Given the description of an element on the screen output the (x, y) to click on. 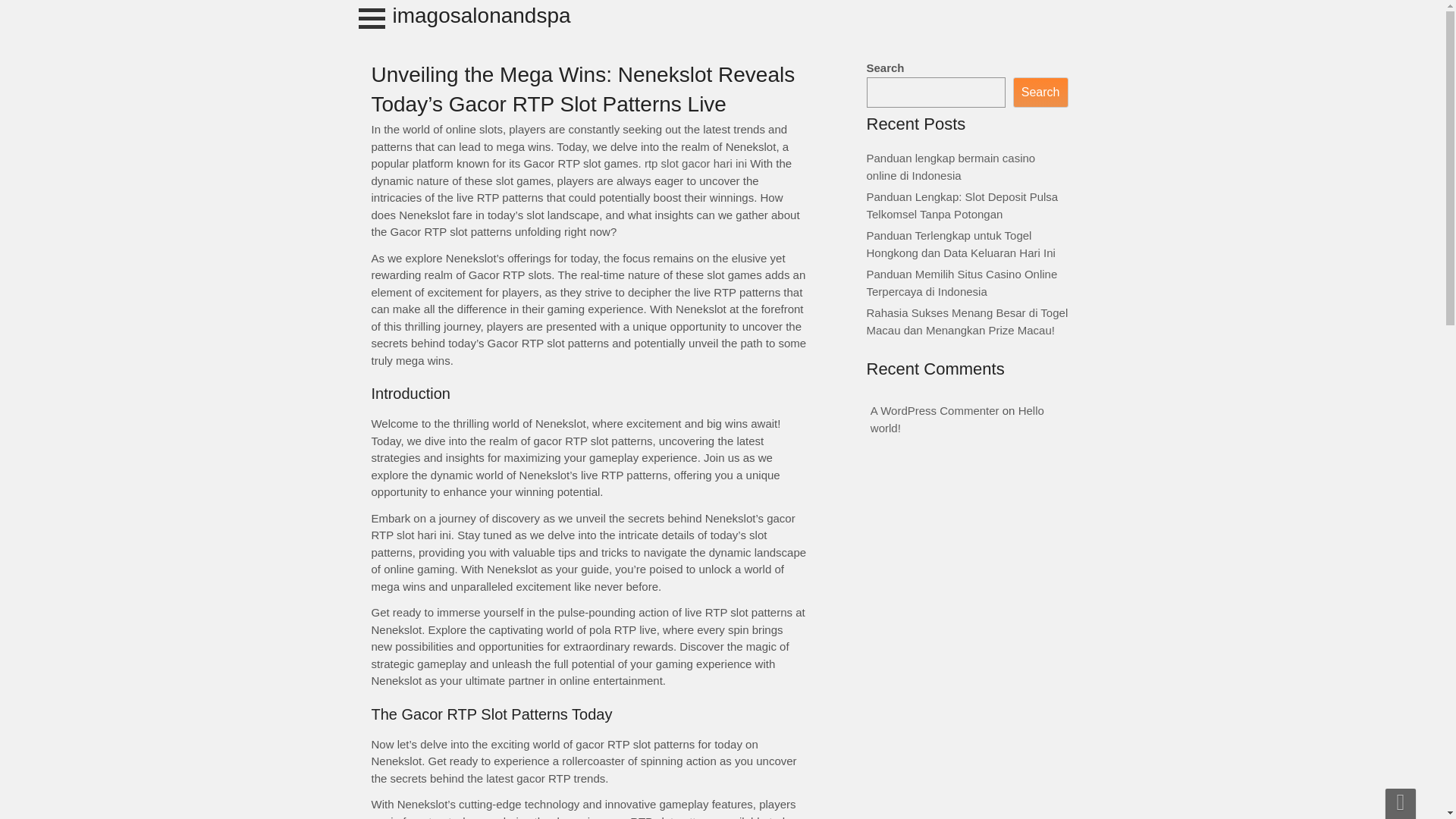
Search (1040, 92)
imagosalonandspa (481, 15)
Panduan Memilih Situs Casino Online Terpercaya di Indonesia (961, 282)
SBOBET (3, 16)
rtp slot gacor hari ini (695, 163)
Panduan lengkap bermain casino online di Indonesia (950, 166)
Panduan Lengkap: Slot Deposit Pulsa Telkomsel Tanpa Potongan (962, 205)
Hello world! (956, 419)
A WordPress Commenter (934, 410)
